Given the description of an element on the screen output the (x, y) to click on. 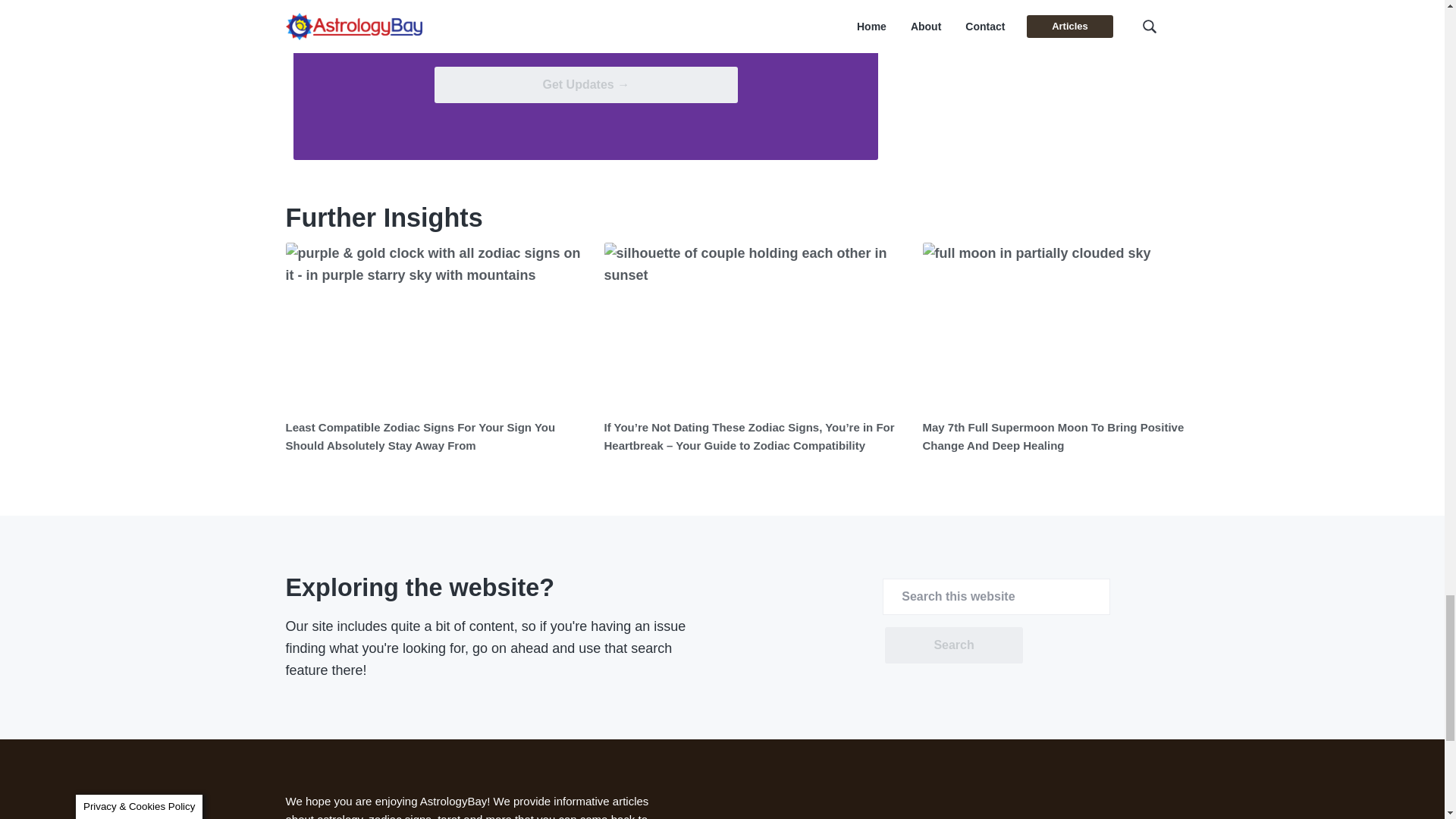
Search (953, 645)
Search (953, 645)
